Given the description of an element on the screen output the (x, y) to click on. 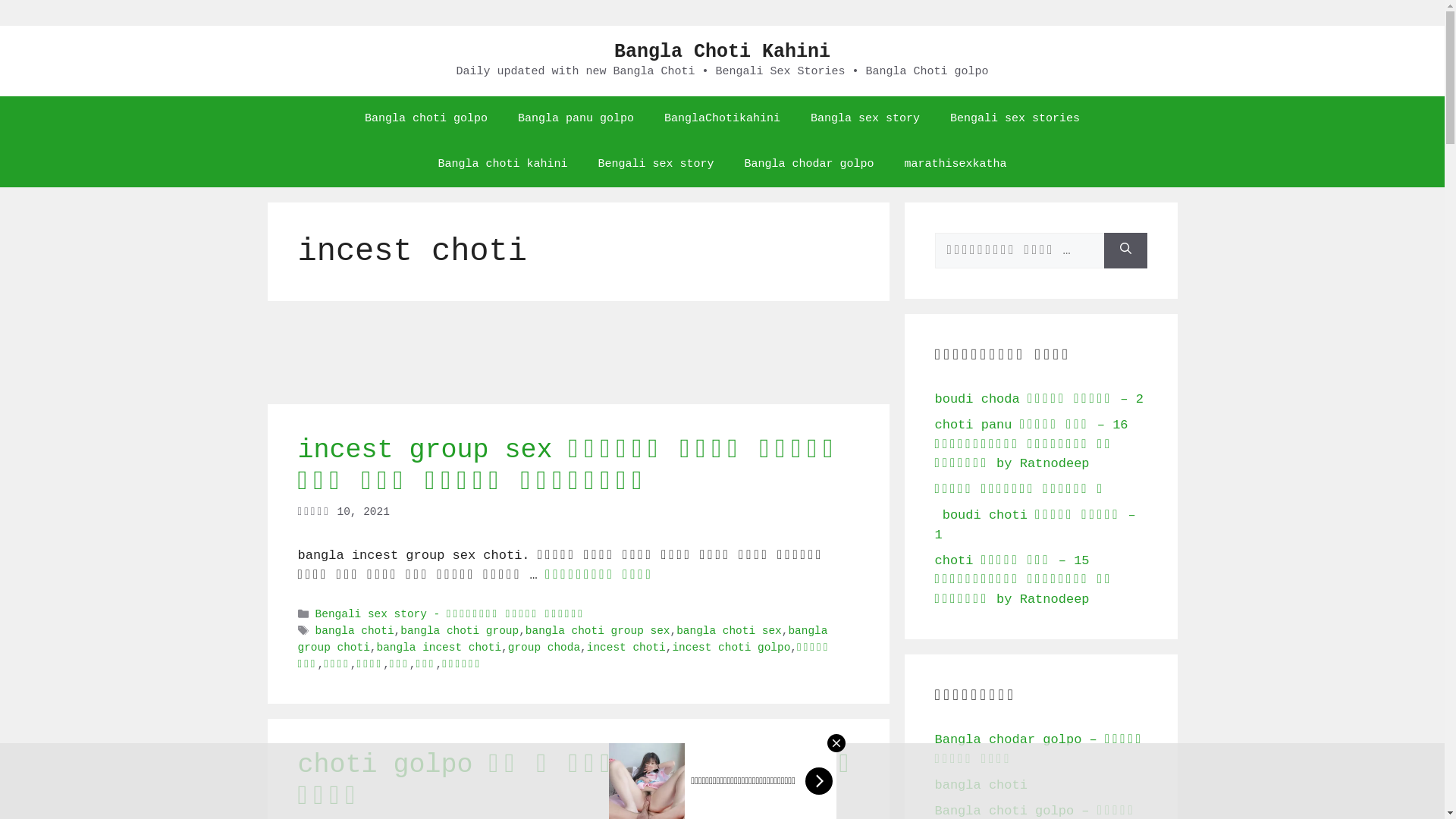
BanglaChotikahini Element type: text (722, 118)
Bangla panu golpo Element type: text (575, 118)
bangla choti Element type: text (354, 631)
bangla choti group sex Element type: text (597, 631)
bangla incest choti Element type: text (438, 647)
Bangla Choti Kahini Element type: text (722, 51)
Bangla choti kahini Element type: text (502, 163)
marathisexkatha Element type: text (955, 163)
incest choti golpo Element type: text (730, 647)
bangla choti sex Element type: text (728, 631)
Bengali sex story Element type: text (655, 163)
Bangla choti golpo Element type: text (425, 118)
Bangla sex story Element type: text (865, 118)
bangla choti group Element type: text (459, 631)
bangla group choti Element type: text (562, 639)
Bangla chodar golpo Element type: text (809, 163)
incest choti Element type: text (625, 647)
bangla choti Element type: text (980, 785)
Bengali sex stories Element type: text (1015, 118)
group choda Element type: text (544, 647)
